Given the description of an element on the screen output the (x, y) to click on. 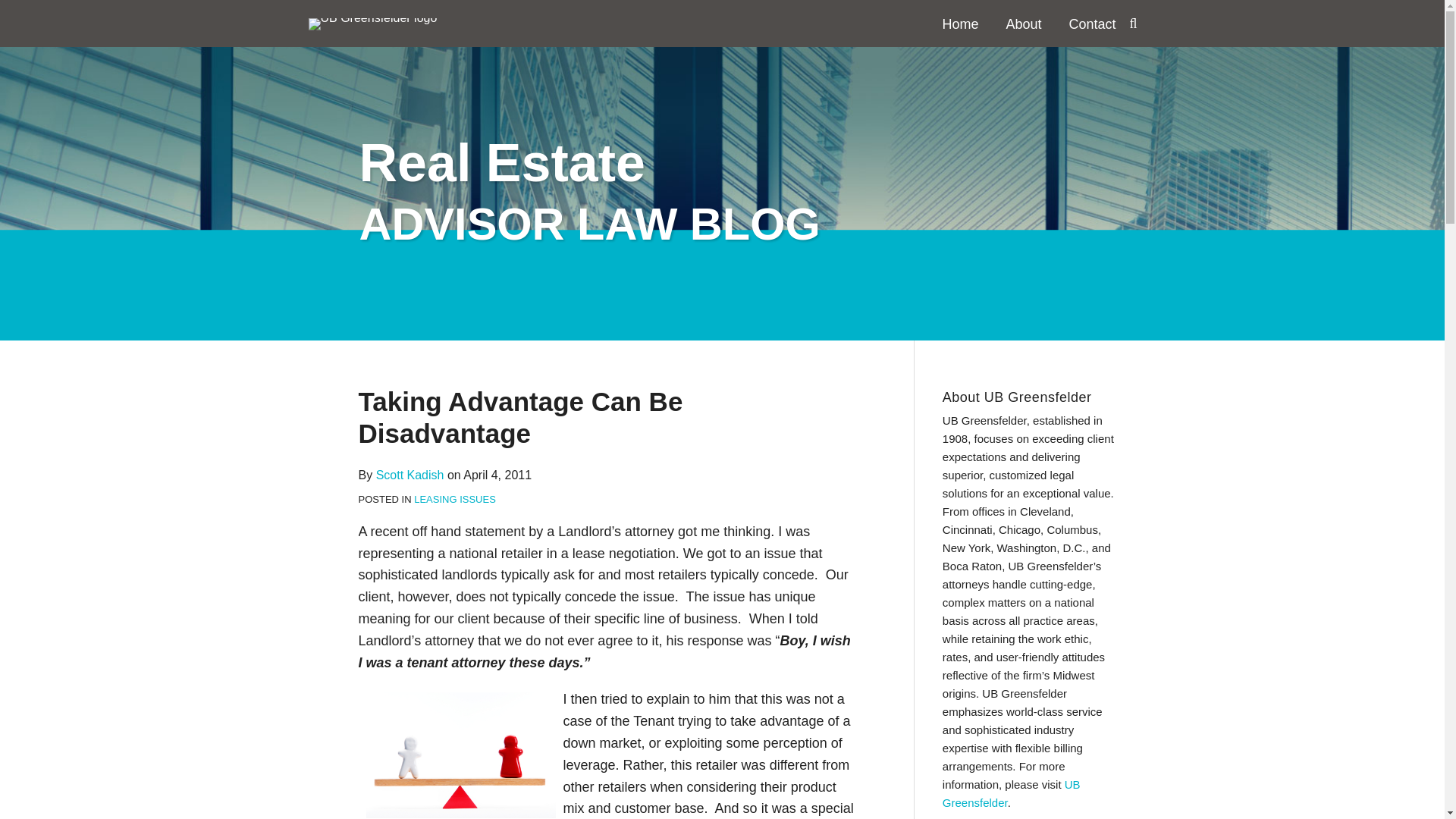
About (1023, 24)
Home (960, 24)
UB Greensfelder (1011, 793)
Contact (1091, 24)
Scott Kadish (409, 474)
LEASING ISSUES (454, 499)
Real Estate ADVISOR LAW BLOG (590, 191)
